Given the description of an element on the screen output the (x, y) to click on. 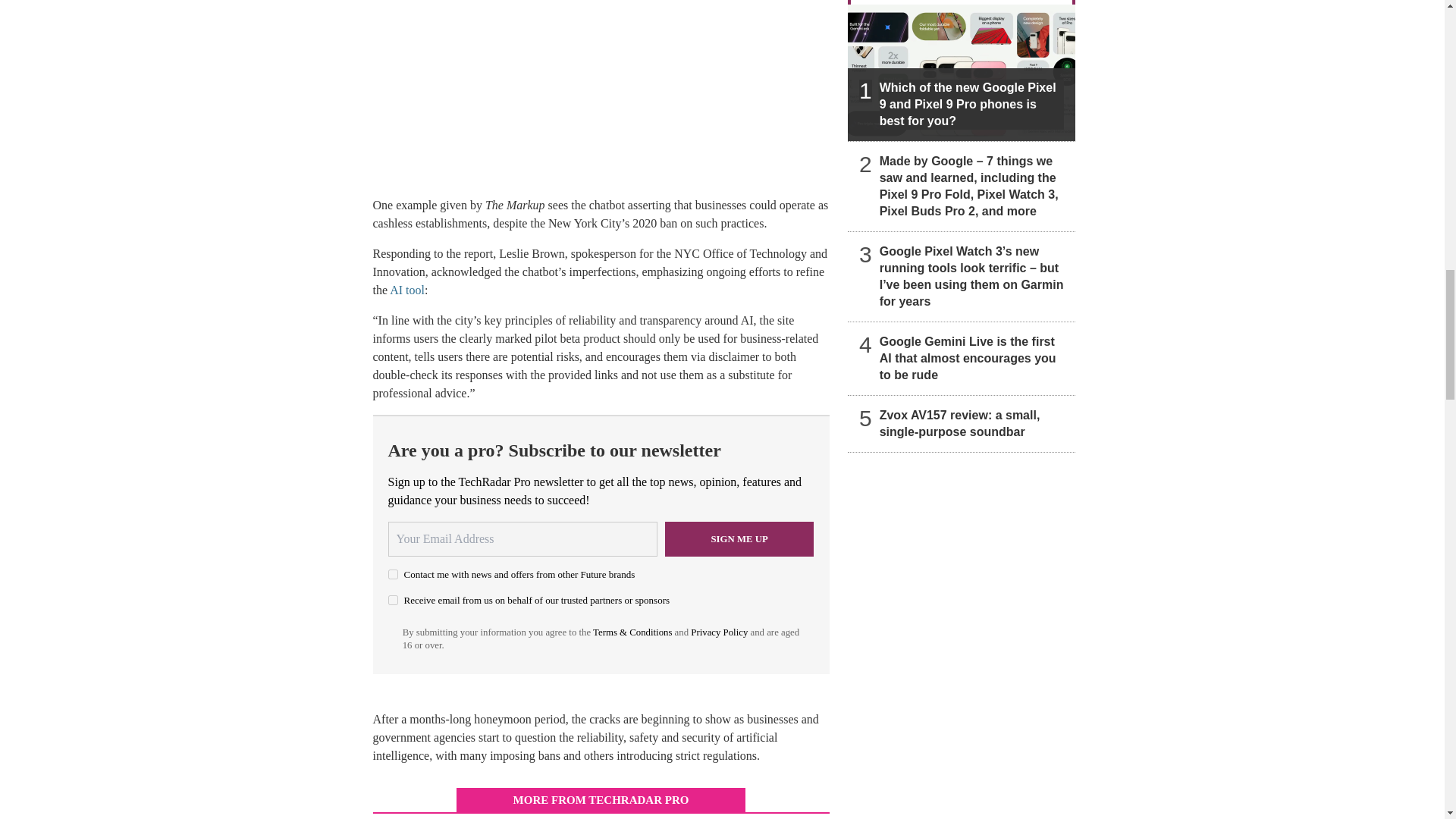
on (392, 574)
Sign me up (739, 538)
on (392, 600)
